Given the description of an element on the screen output the (x, y) to click on. 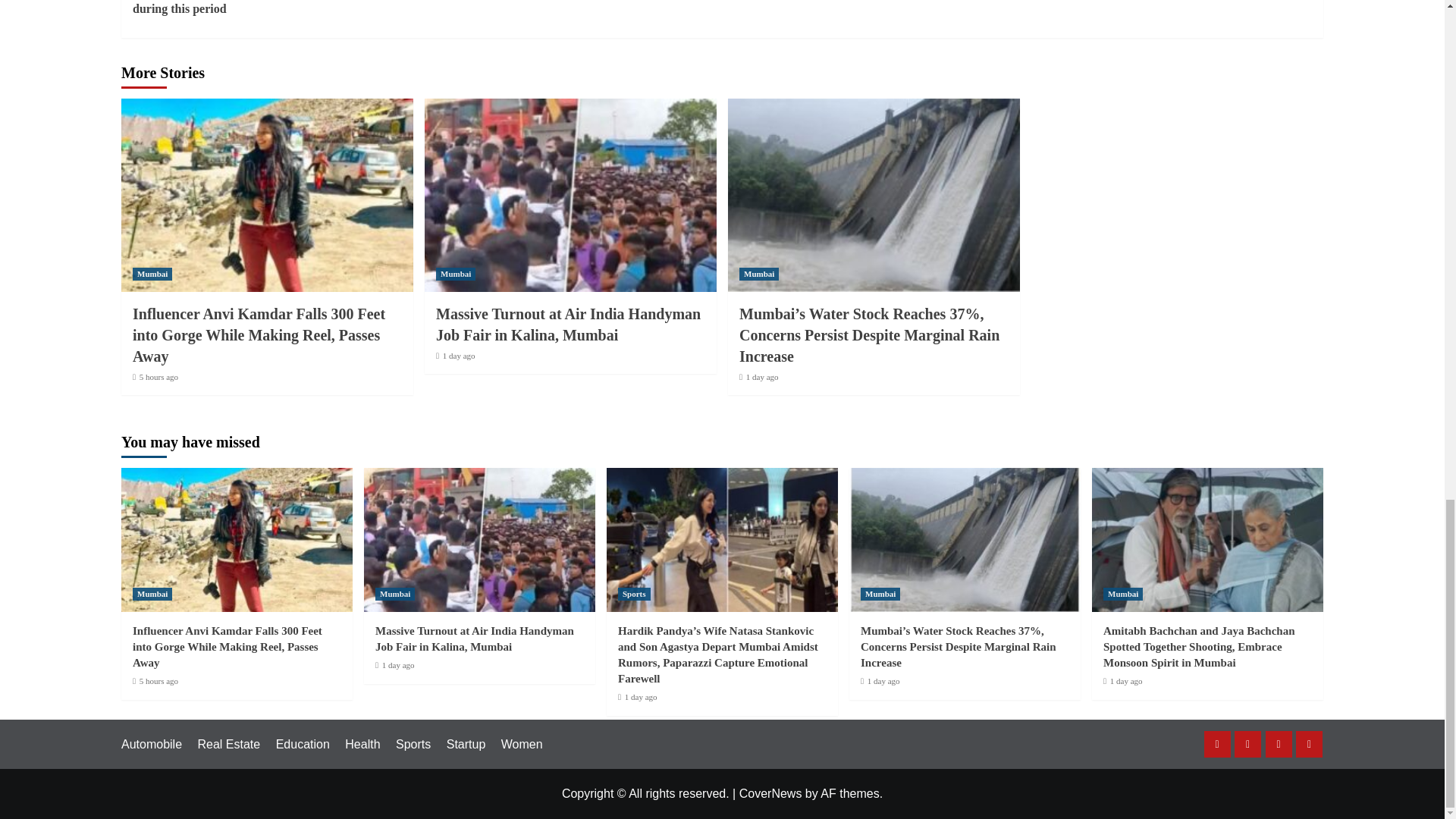
5 hours ago (158, 376)
Mumbai (151, 273)
